Given the description of an element on the screen output the (x, y) to click on. 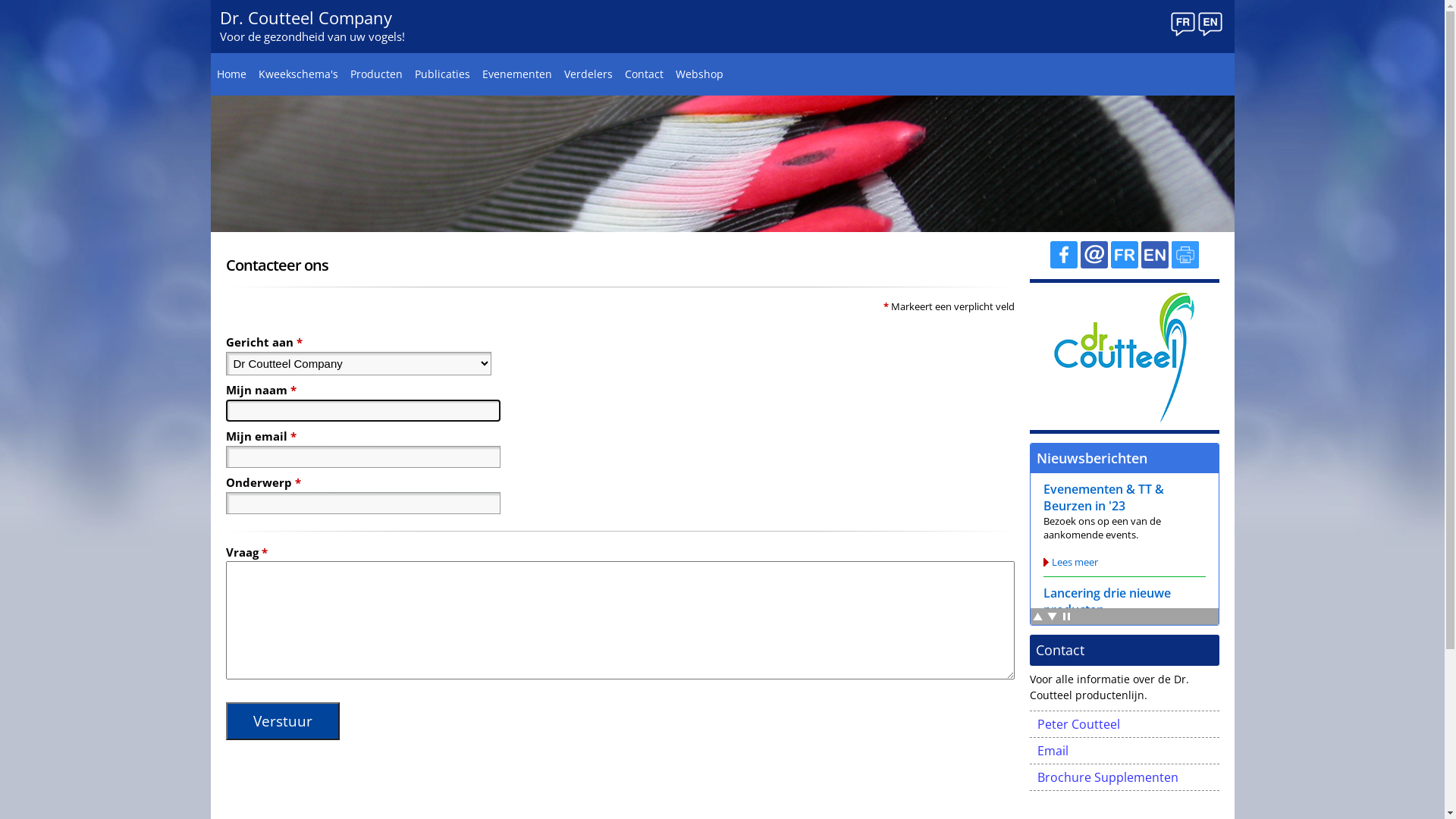
Kweekschema's Element type: text (297, 74)
Evenementen Element type: text (517, 74)
Dr. Coutteel Company Element type: text (305, 17)
Voor de gezondheid van uw vogels! Element type: text (311, 35)
Verstuur Element type: text (282, 721)
Verdelers Element type: text (588, 74)
Webshop Element type: text (698, 74)
Home Element type: text (231, 74)
Peter Coutteel Element type: text (1124, 723)
Publicaties Element type: text (441, 74)
Producten Element type: text (376, 74)
Brochure Supplementen Element type: text (1124, 777)
Contact Element type: text (643, 74)
Email Element type: text (1124, 750)
